Given the description of an element on the screen output the (x, y) to click on. 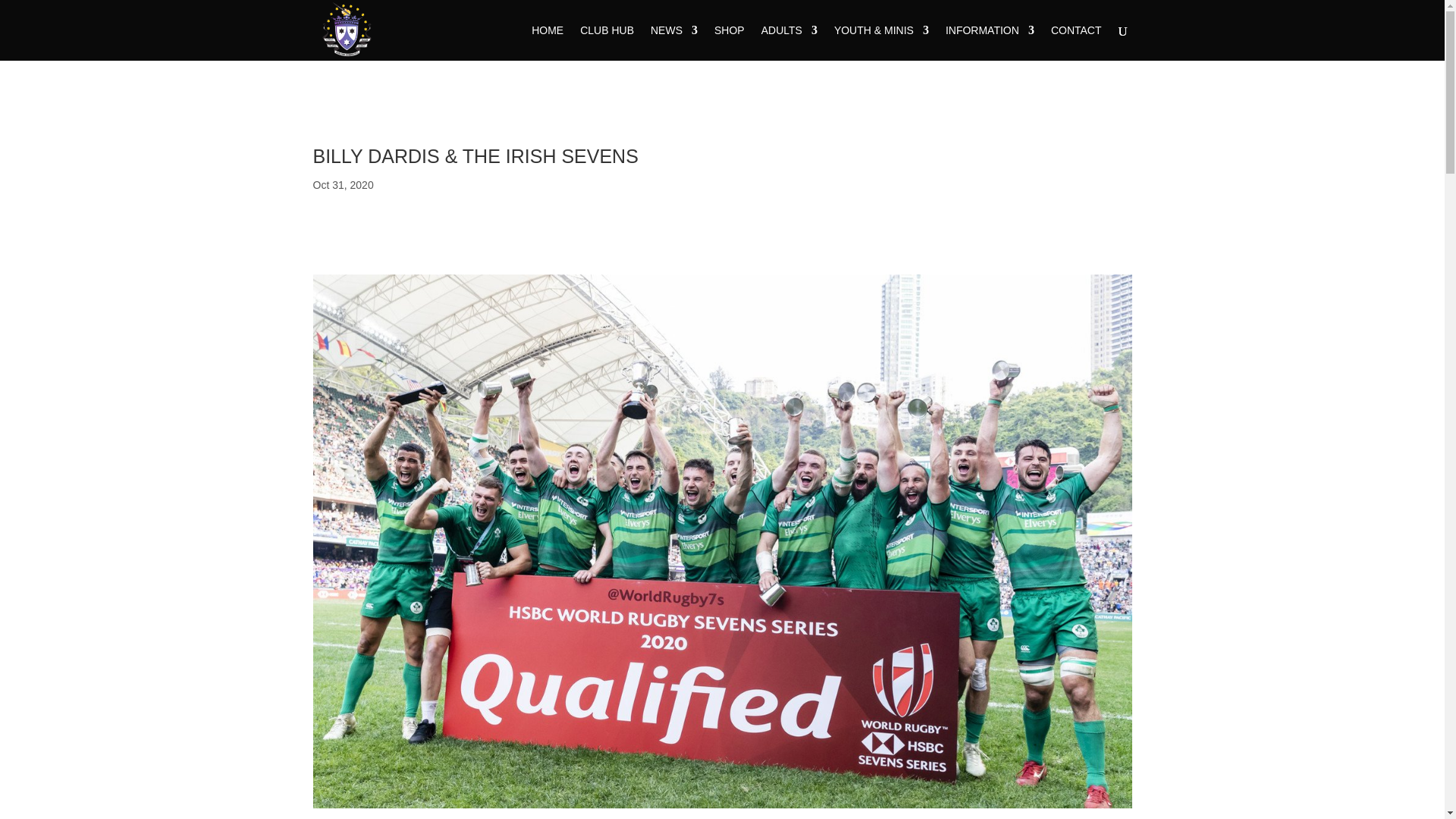
ADULTS (788, 42)
CONTACT (1076, 42)
CLUB HUB (606, 42)
INFORMATION (988, 42)
NEWS (673, 42)
HOME (547, 42)
